Given the description of an element on the screen output the (x, y) to click on. 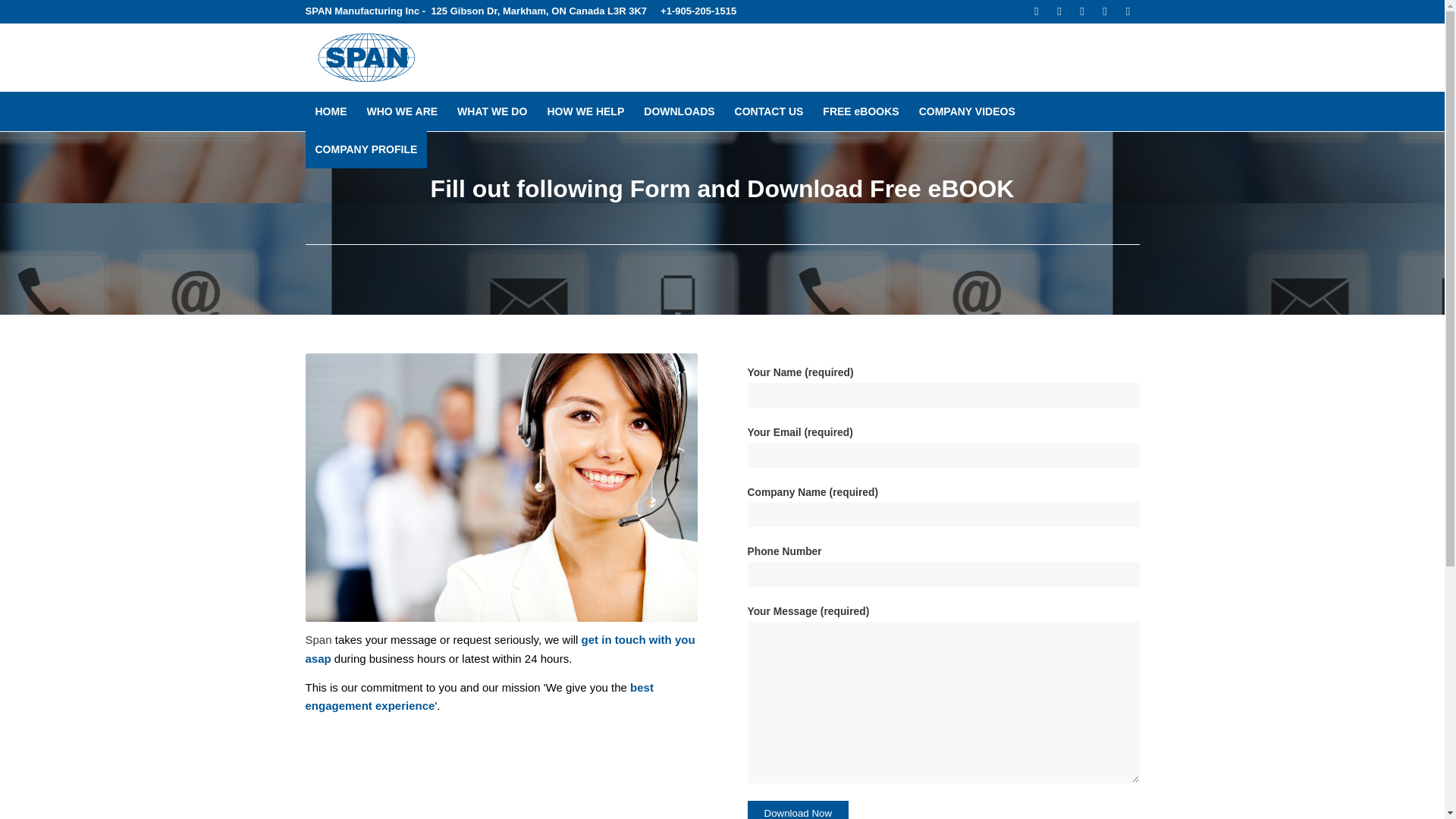
LinkedIn (1081, 11)
DOWNLOADS (678, 111)
WHAT WE DO (491, 111)
WHO WE ARE (401, 111)
FREE eBOOKS (860, 111)
CONTACT US (769, 111)
HOME (330, 111)
Instagram (1127, 11)
Facebook (1035, 11)
Youtube (1104, 11)
HOW WE HELP (585, 111)
COMPANY VIDEOS (966, 111)
COMPANY PROFILE (365, 149)
new-1024x700 (500, 486)
Download Now (798, 809)
